Given the description of an element on the screen output the (x, y) to click on. 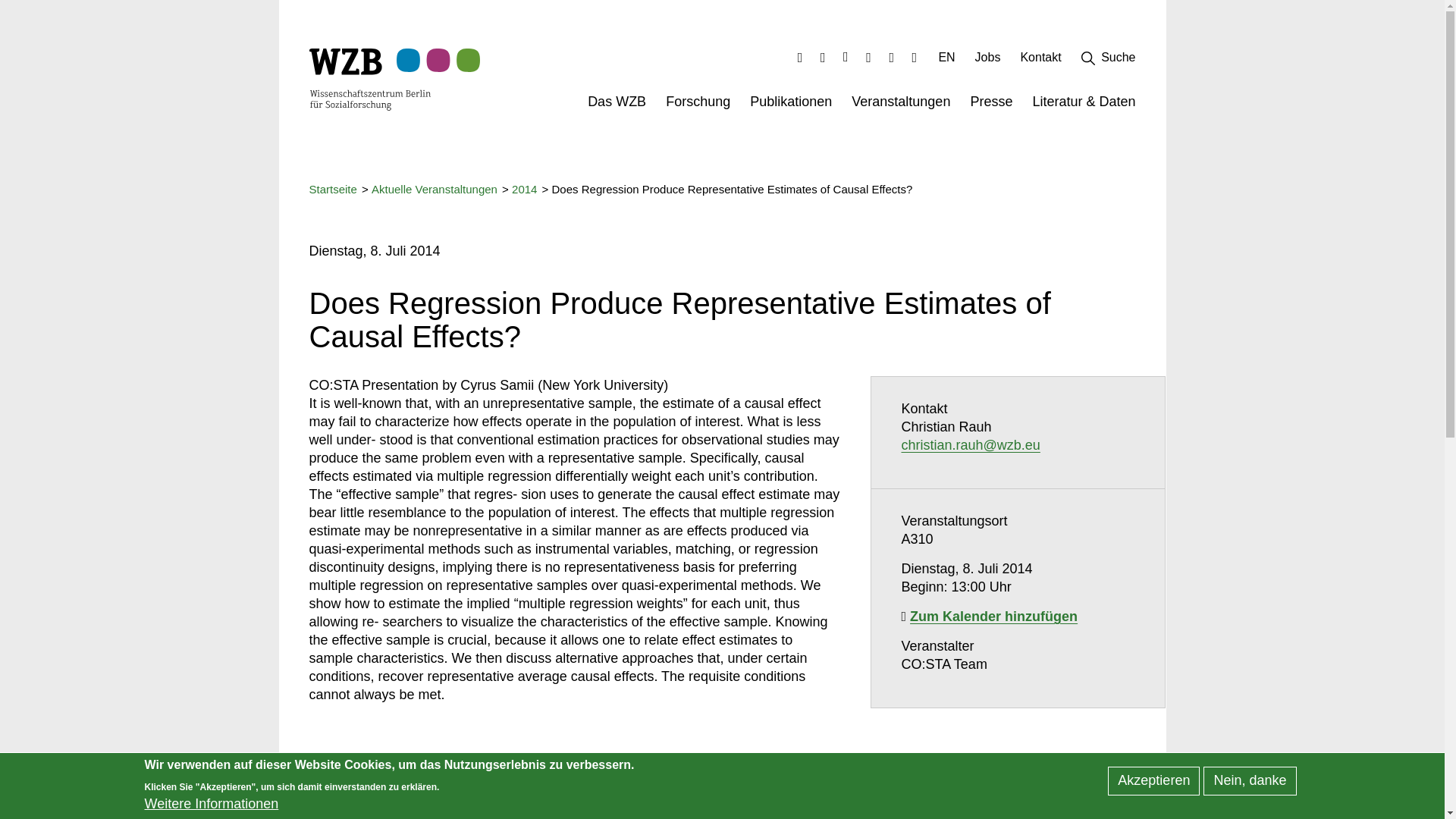
Kontakt (1040, 60)
WZB in leichter Sprache (890, 56)
Instagram (845, 56)
Youtube (868, 56)
Kontakt zum WZB (1040, 60)
Suche (1108, 60)
Jobs (987, 60)
Das WZB auf Instagram (845, 56)
Leichte Sprache (890, 56)
EN (945, 60)
Zur Startseite (369, 78)
Zu Englisch wechseln (945, 60)
LinkedIn (800, 56)
Das WZB auf Youtube (868, 56)
